Given the description of an element on the screen output the (x, y) to click on. 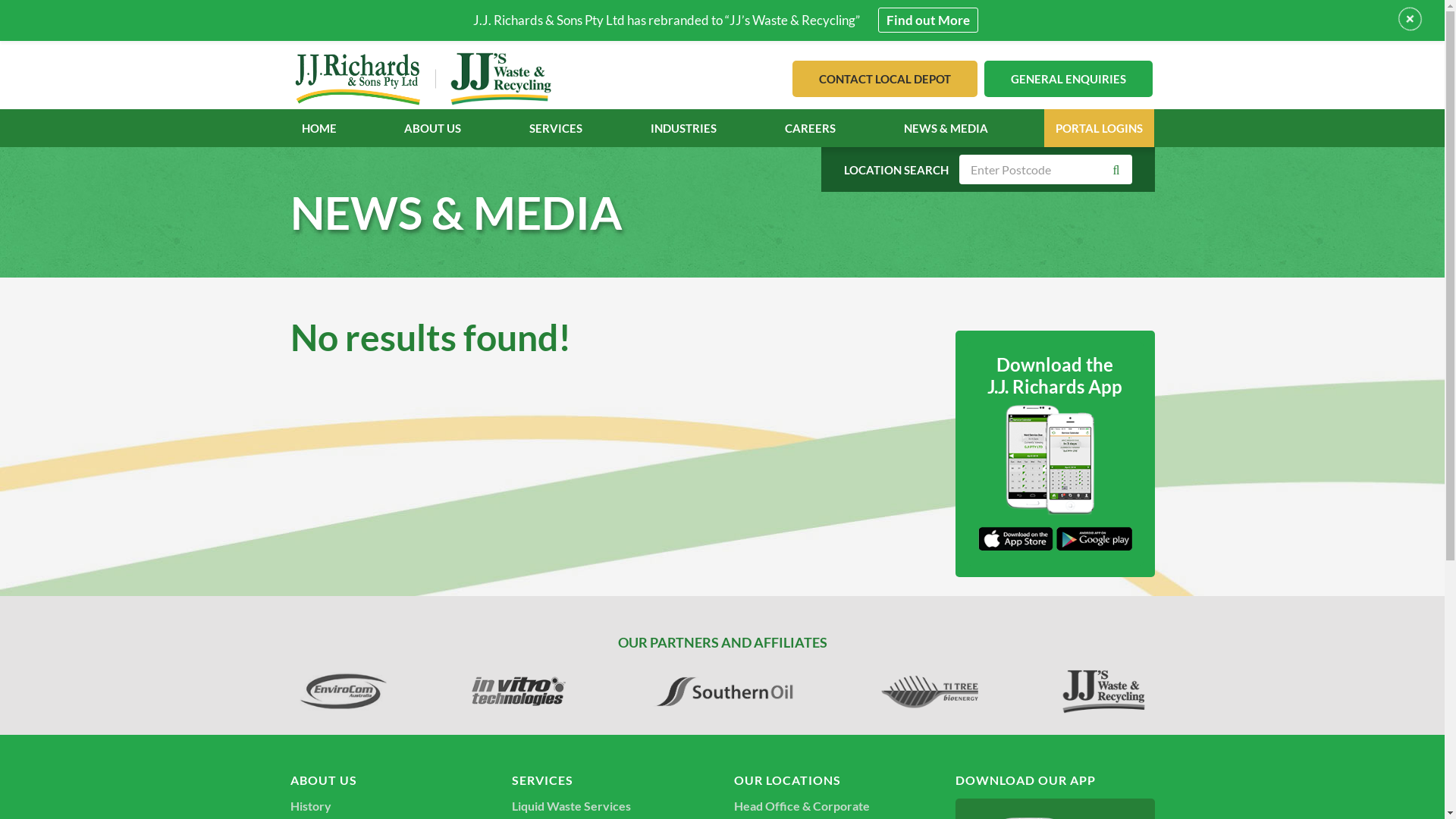
INDUSTRIES Element type: text (683, 128)
+ Element type: text (1409, 18)
Head Office & Corporate Element type: text (801, 804)
History Element type: text (309, 804)
SERVICES Element type: text (555, 128)
HOME Element type: text (318, 128)
Download the
J.J. Richards App Element type: text (1054, 453)
NEWS & MEDIA Element type: text (945, 128)
ABOUT US Element type: text (432, 128)
Find out More Element type: text (928, 19)
CAREERS Element type: text (809, 128)
PORTAL LOGINS Element type: text (1098, 128)
CONTACT LOCAL DEPOT Element type: text (883, 78)
Liquid Waste Services Element type: text (570, 804)
GENERAL ENQUIRIES Element type: text (1068, 78)
